Given the description of an element on the screen output the (x, y) to click on. 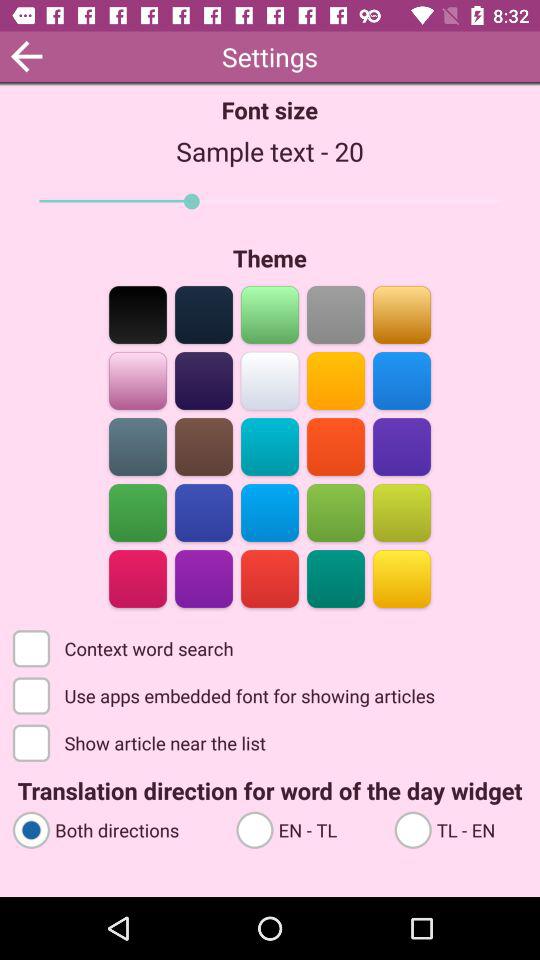
view color (401, 511)
